Given the description of an element on the screen output the (x, y) to click on. 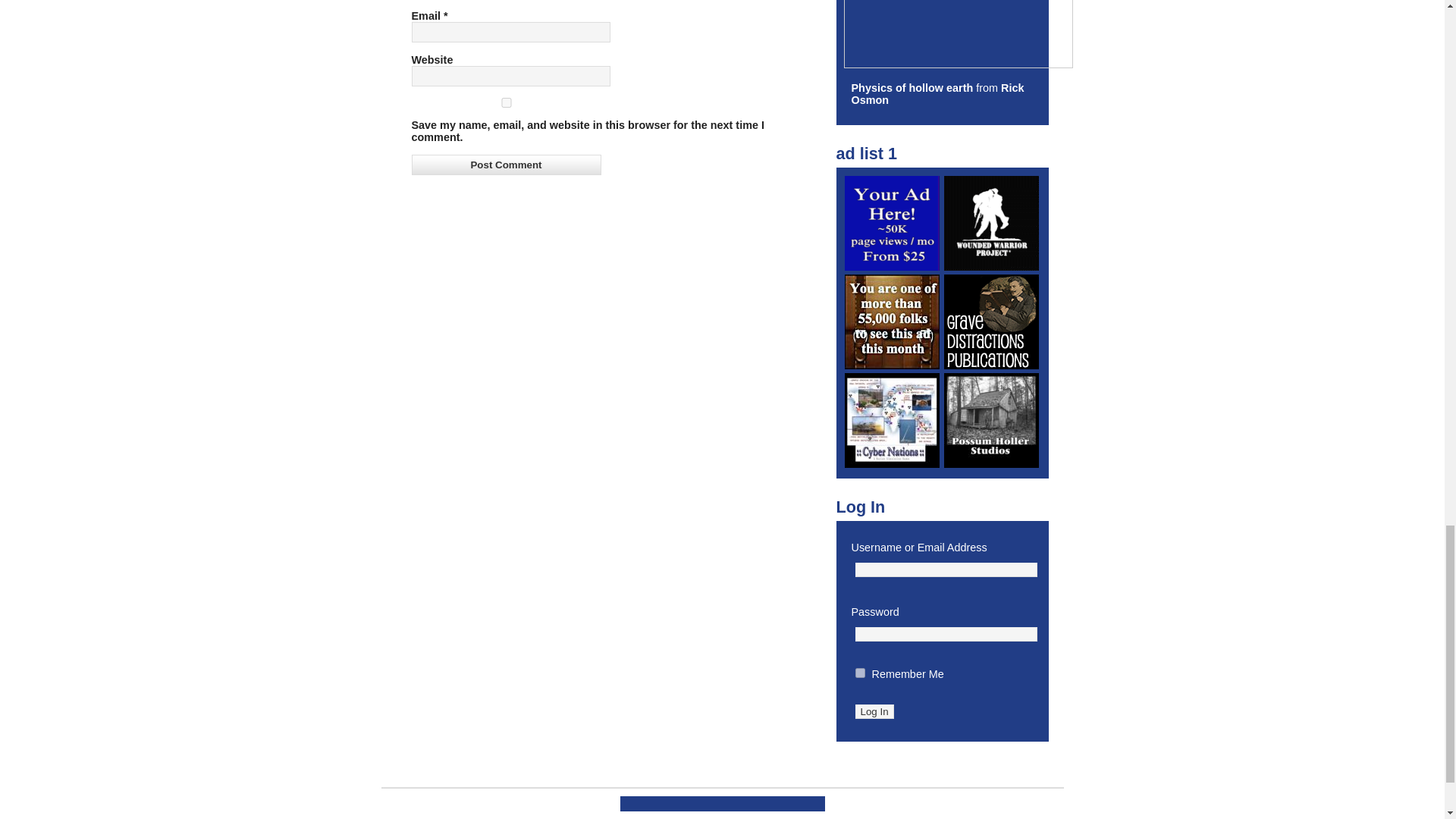
Post Comment (504, 164)
yes (504, 102)
Post Comment (504, 164)
forever (860, 673)
Physics of Hollow Earth (911, 87)
